Given the description of an element on the screen output the (x, y) to click on. 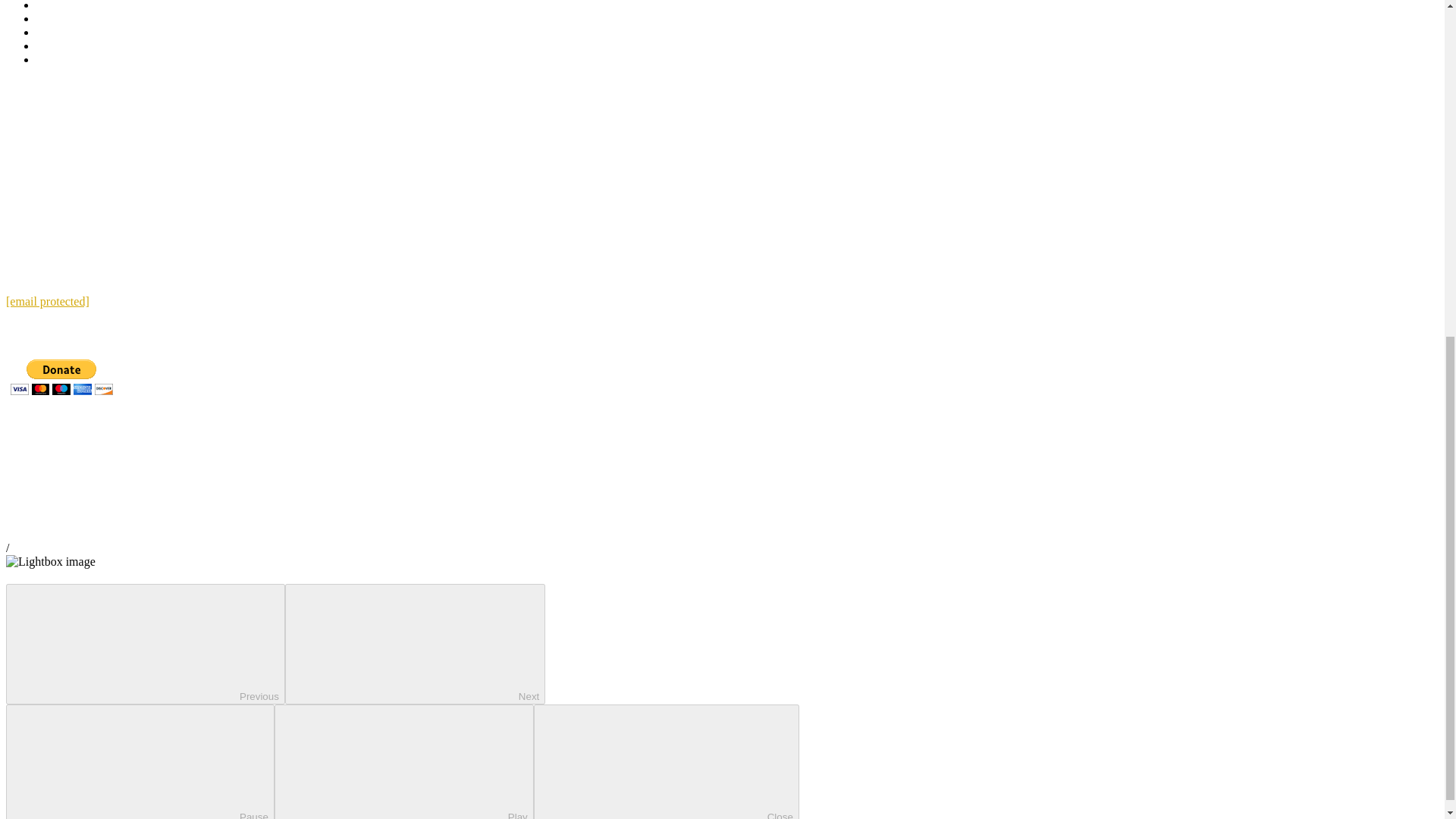
Donate (53, 59)
About (51, 18)
Contact (55, 45)
Previous (145, 643)
Home (50, 5)
Next (414, 643)
Volunteer (59, 31)
